Given the description of an element on the screen output the (x, y) to click on. 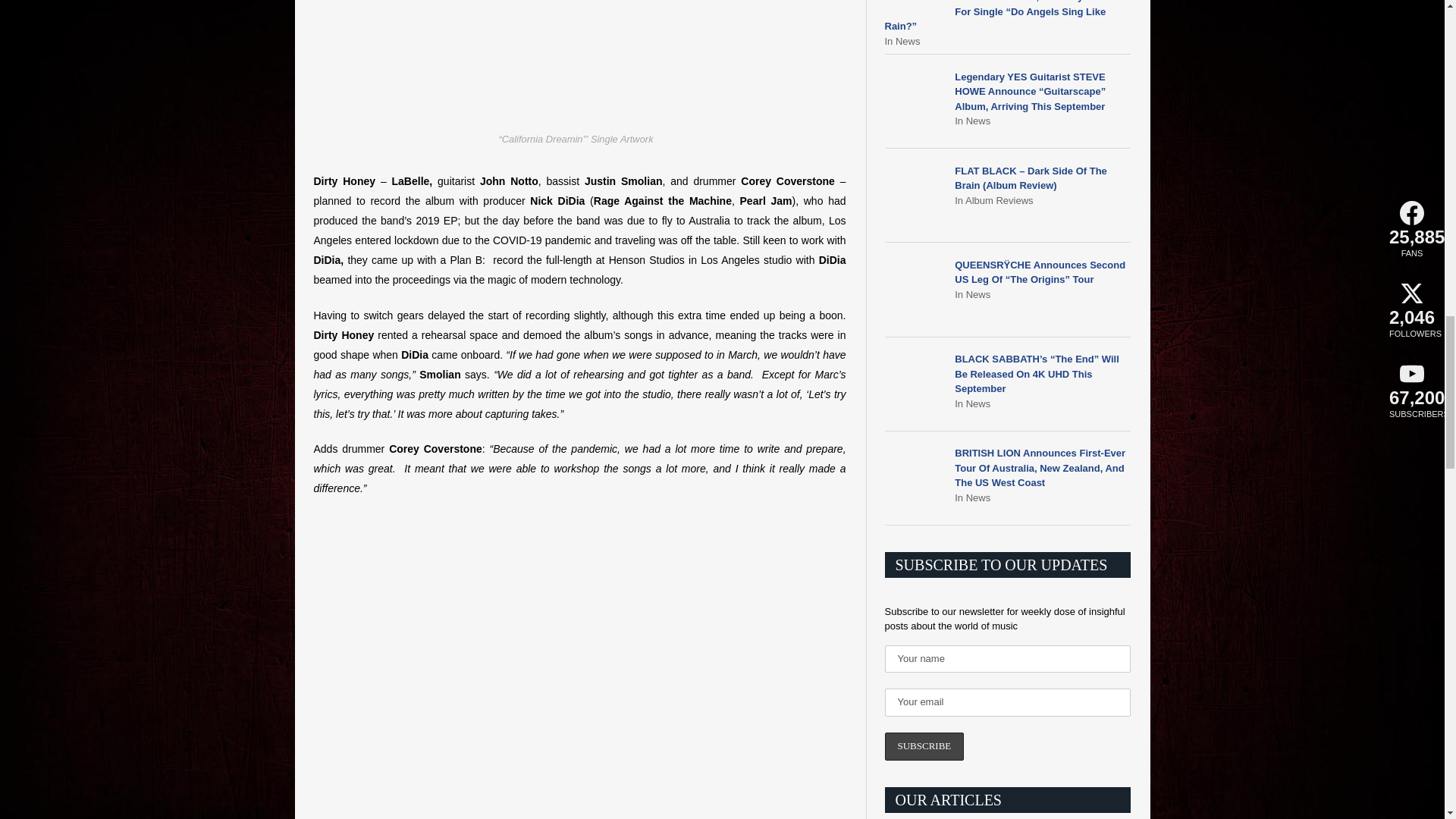
Subscribe (923, 746)
